Given the description of an element on the screen output the (x, y) to click on. 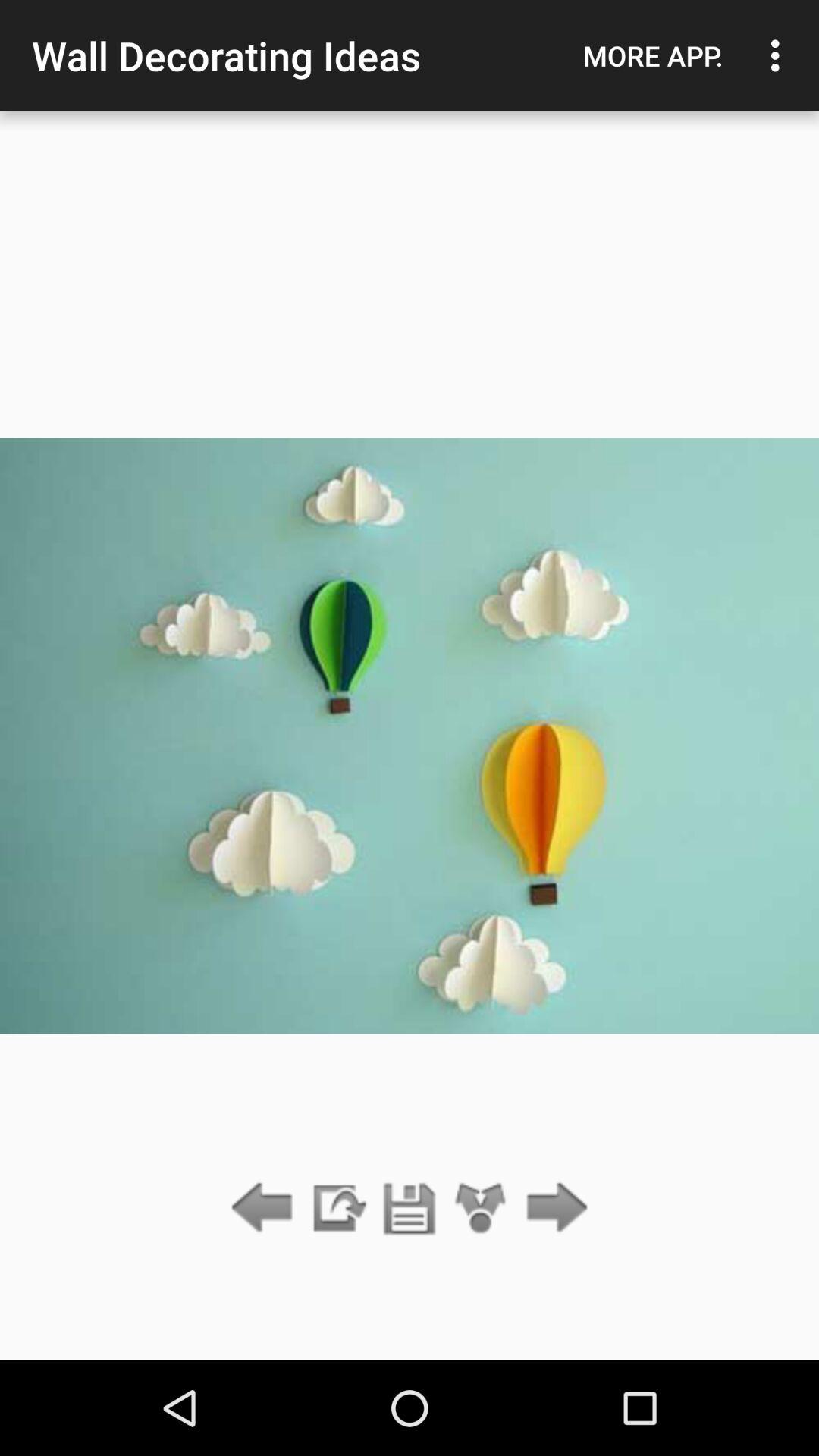
launch the icon next to the wall decorating ideas item (653, 55)
